Given the description of an element on the screen output the (x, y) to click on. 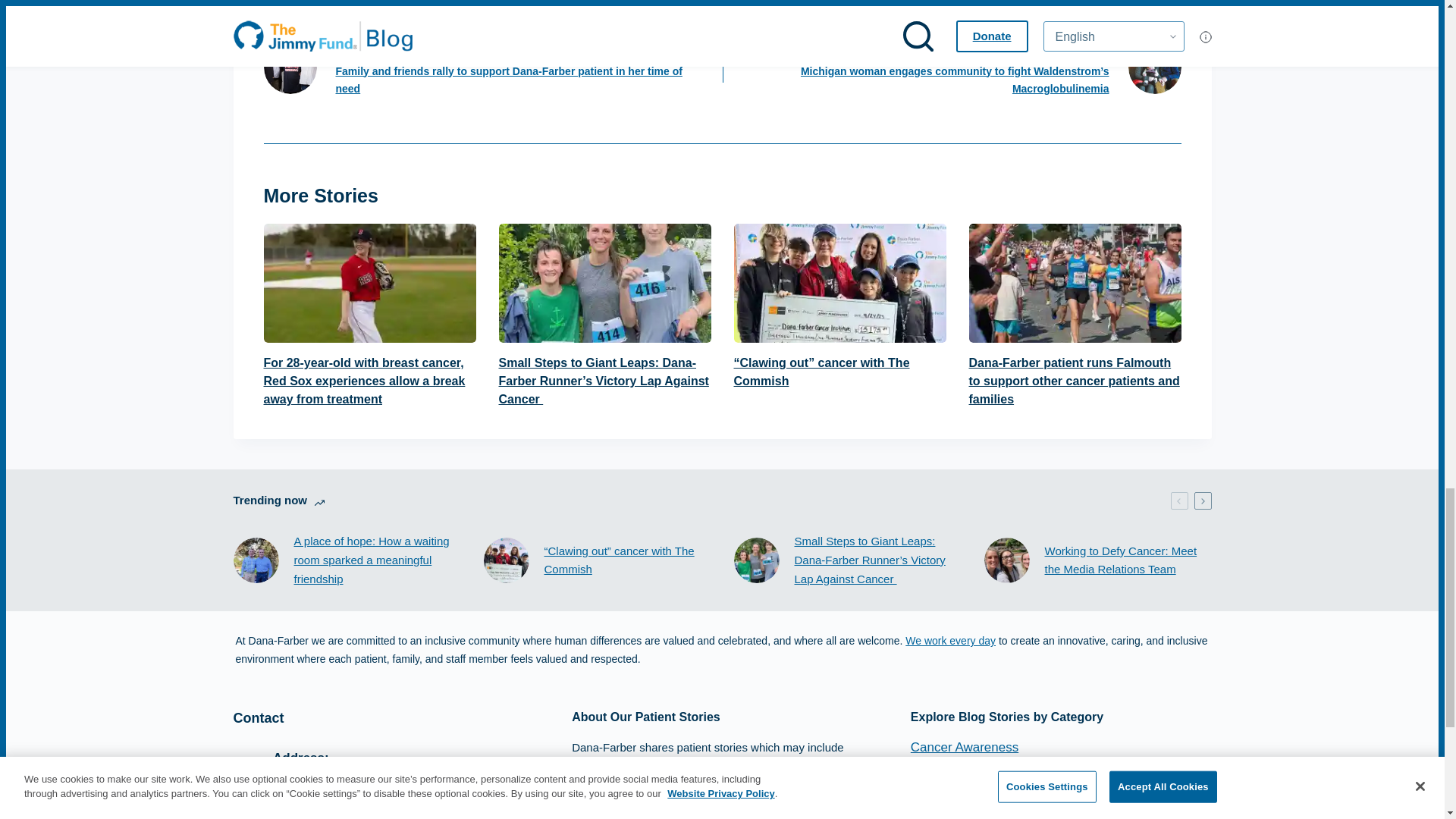
Working to Defy Cancer: Meet the Media Relations Team (1128, 560)
We work every day (950, 640)
